Given the description of an element on the screen output the (x, y) to click on. 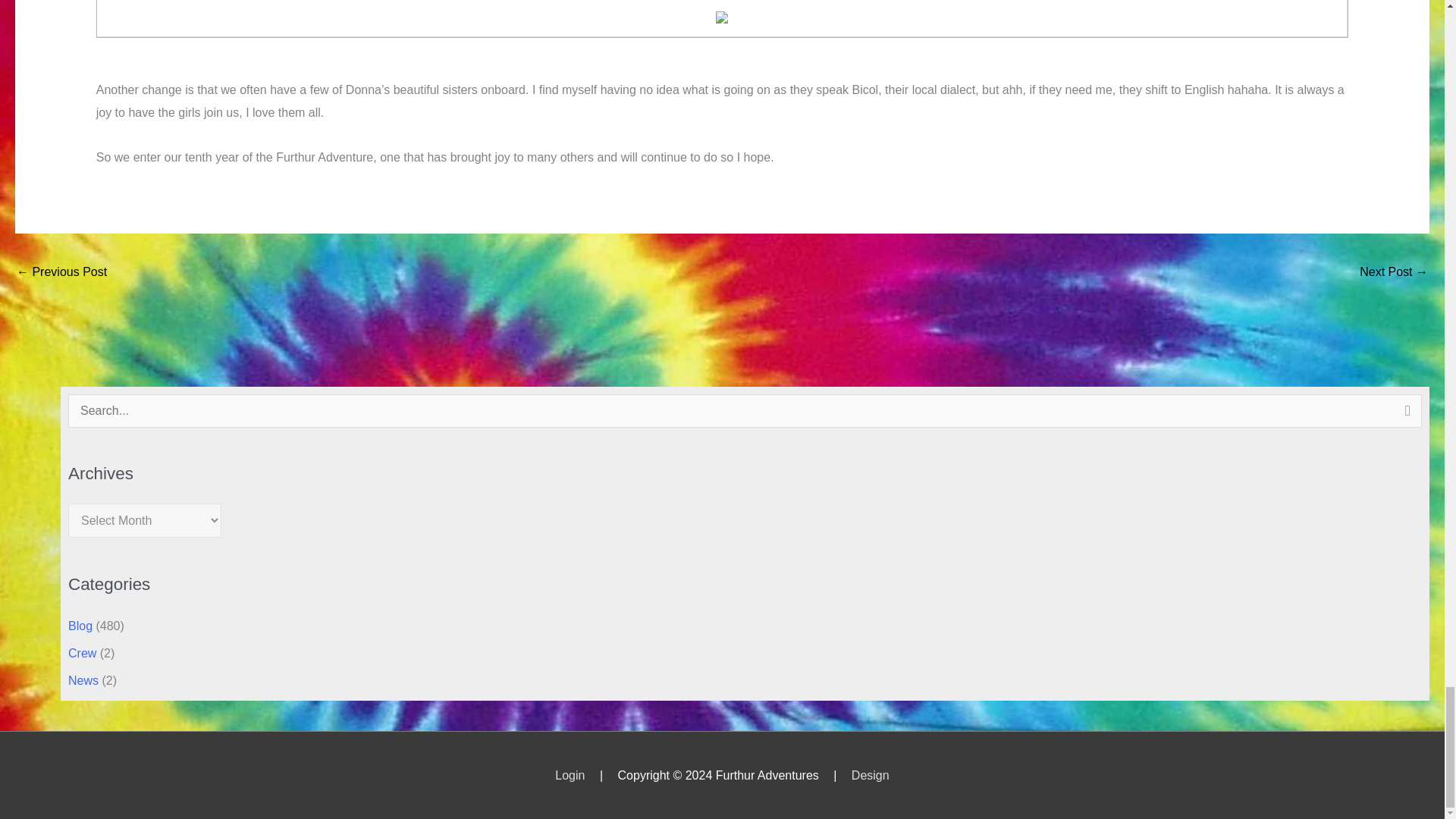
Crew (82, 653)
News (83, 680)
9 Year Report, the boat (61, 273)
Blog (80, 625)
Design (870, 775)
Login (569, 775)
Smile Smile Smile (1393, 273)
